Given the description of an element on the screen output the (x, y) to click on. 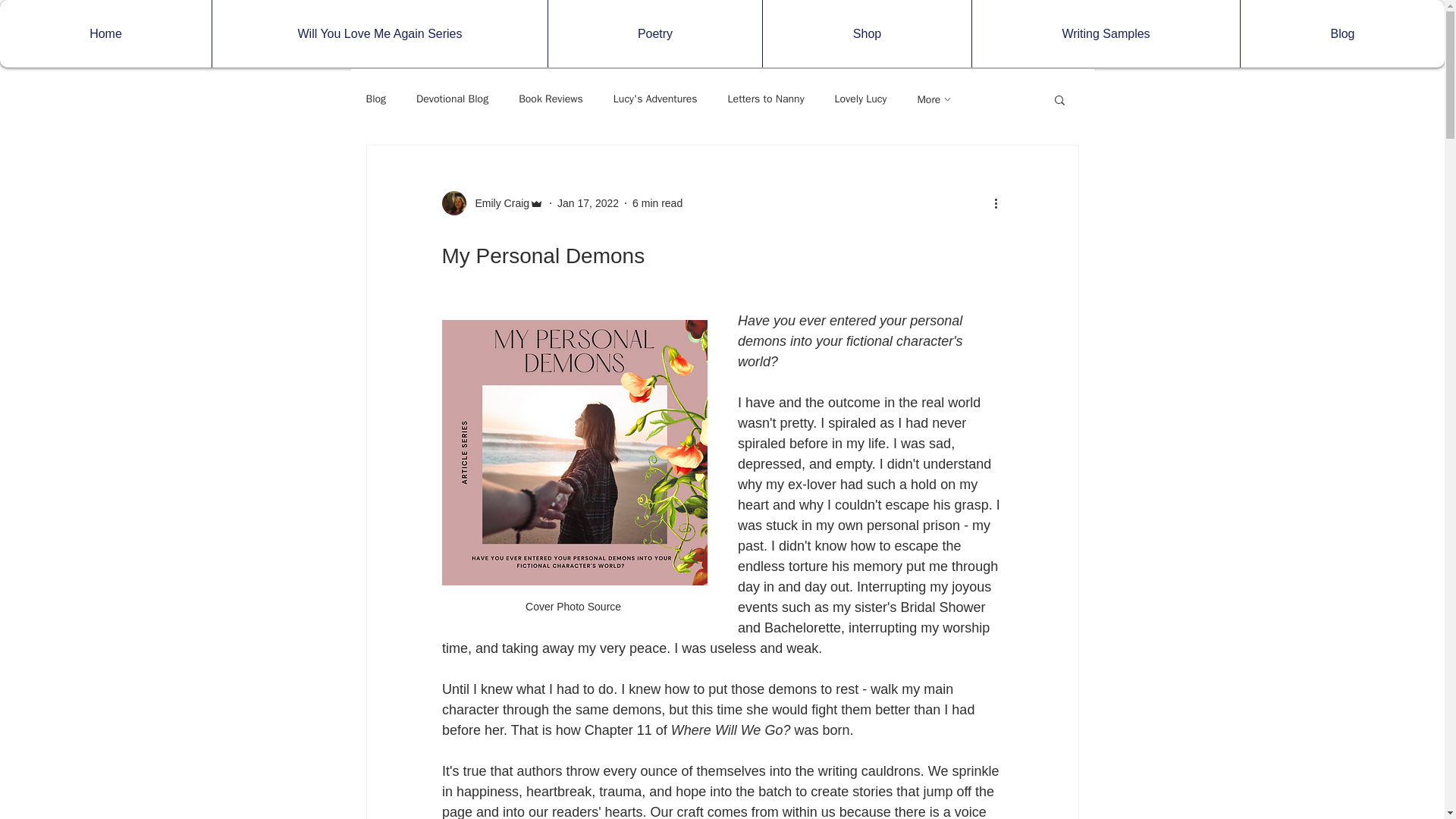
Emily Craig (497, 203)
Lovely Lucy (860, 99)
Shop (866, 33)
Book Reviews (550, 99)
Blog (375, 99)
6 min read (656, 203)
Writing Samples (1105, 33)
Jan 17, 2022 (587, 203)
Poetry (654, 33)
Lucy's Adventures (654, 99)
